Given the description of an element on the screen output the (x, y) to click on. 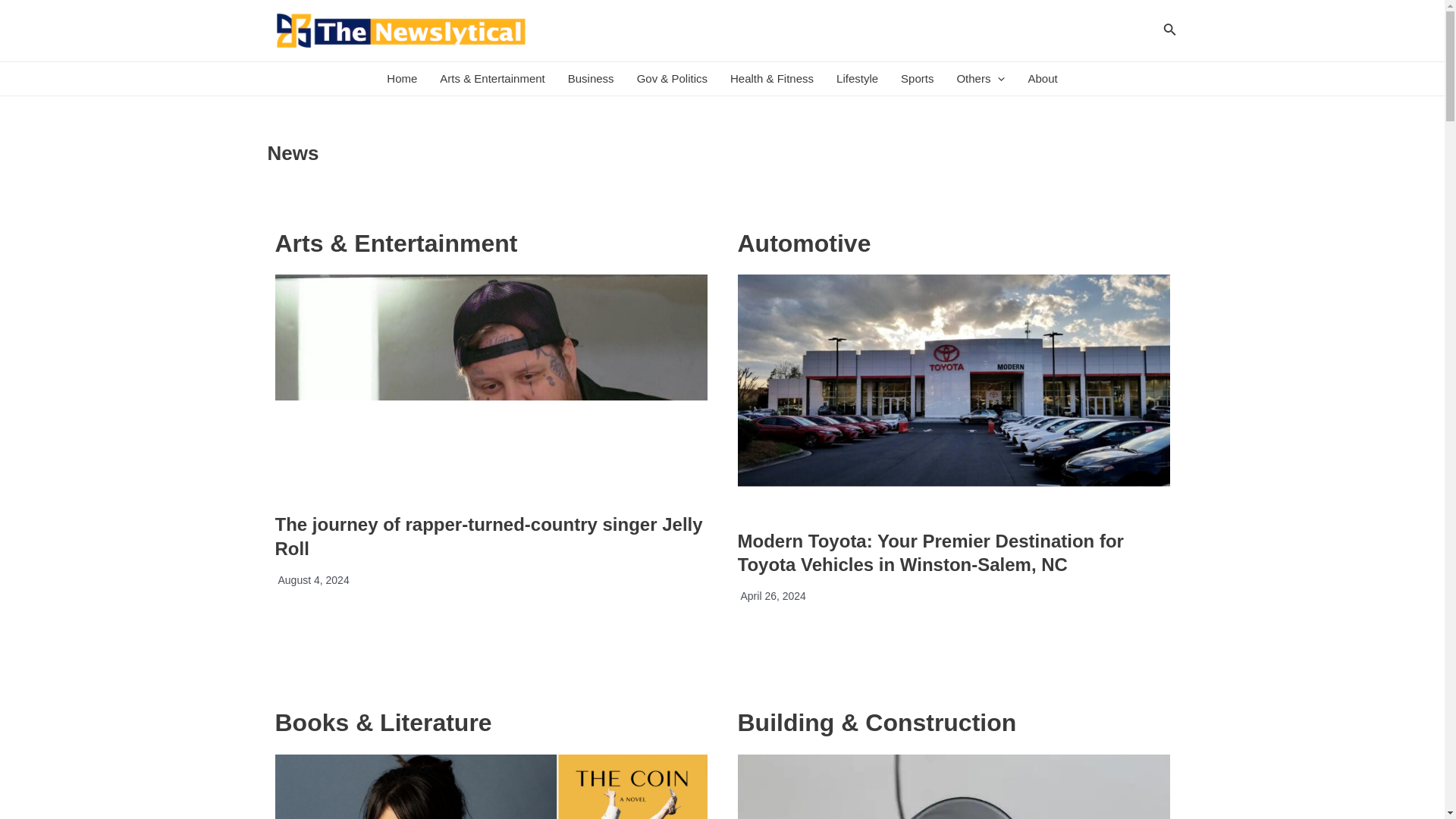
Sports (916, 78)
Business (591, 78)
Home (401, 78)
Lifestyle (857, 78)
About (1042, 78)
Others (980, 78)
